Given the description of an element on the screen output the (x, y) to click on. 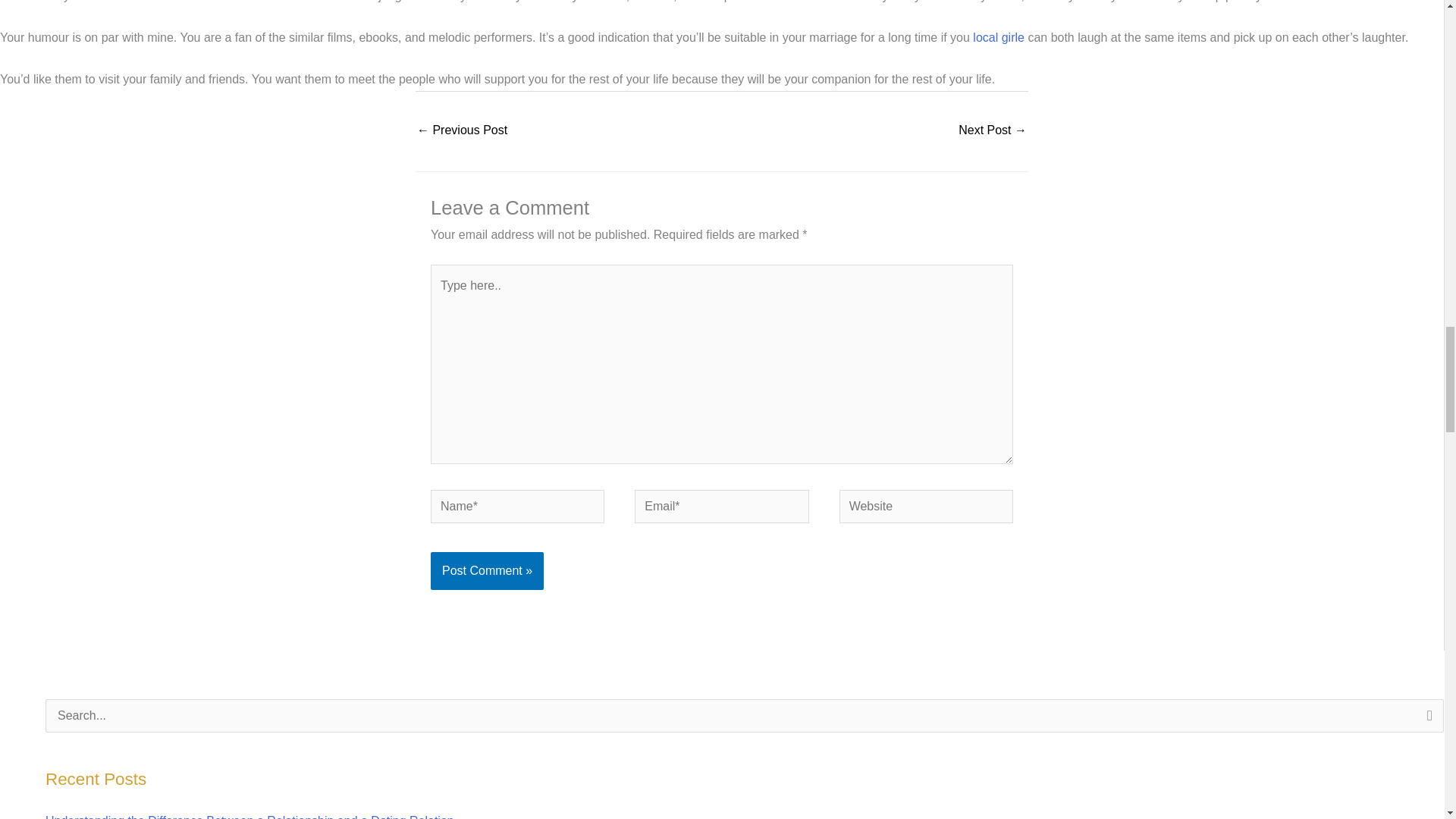
Irish Wedding Practices (461, 131)
local girle (998, 37)
Balanced Career and Love Life (992, 131)
